Given the description of an element on the screen output the (x, y) to click on. 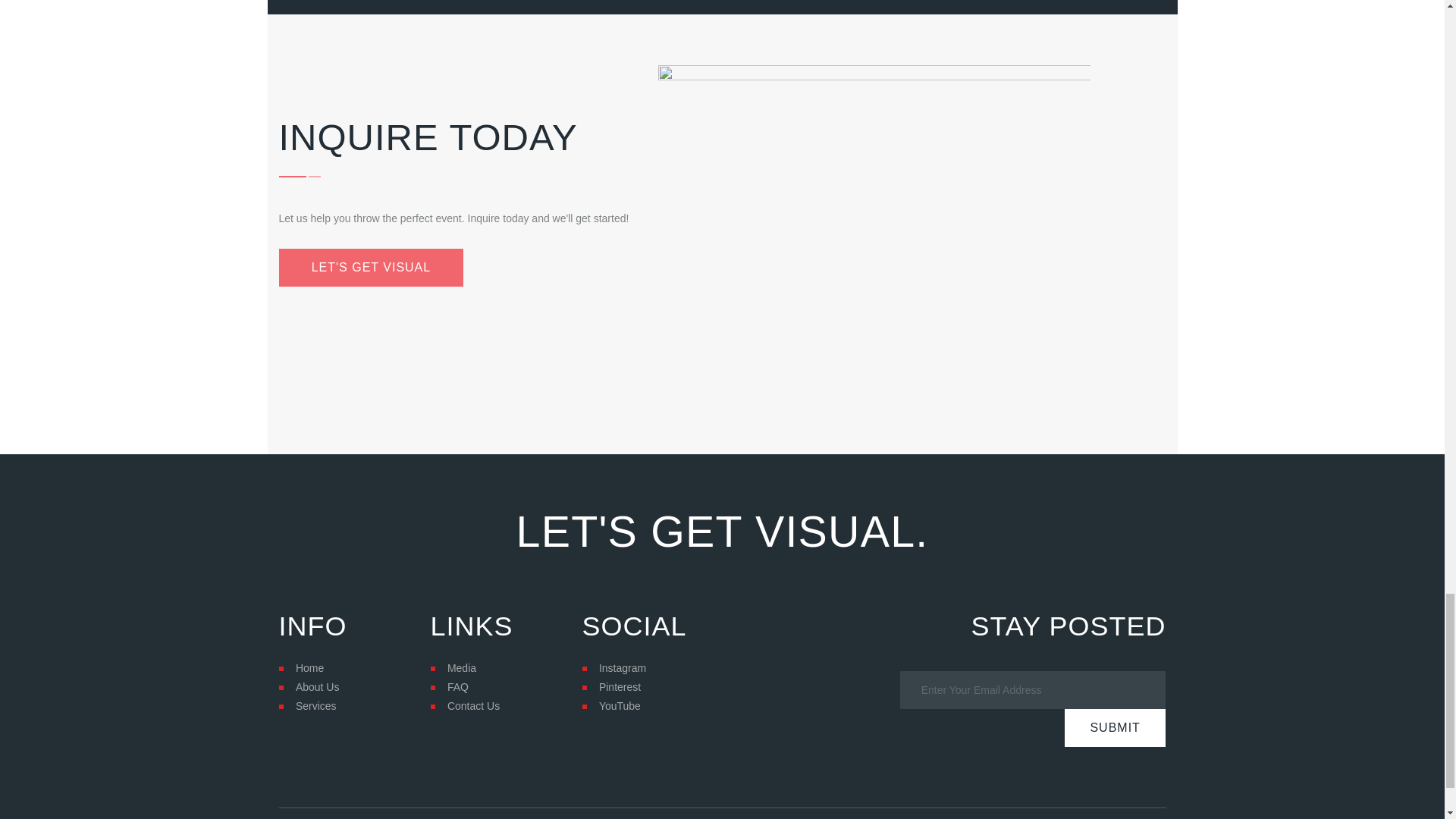
Submit (1115, 727)
